Given the description of an element on the screen output the (x, y) to click on. 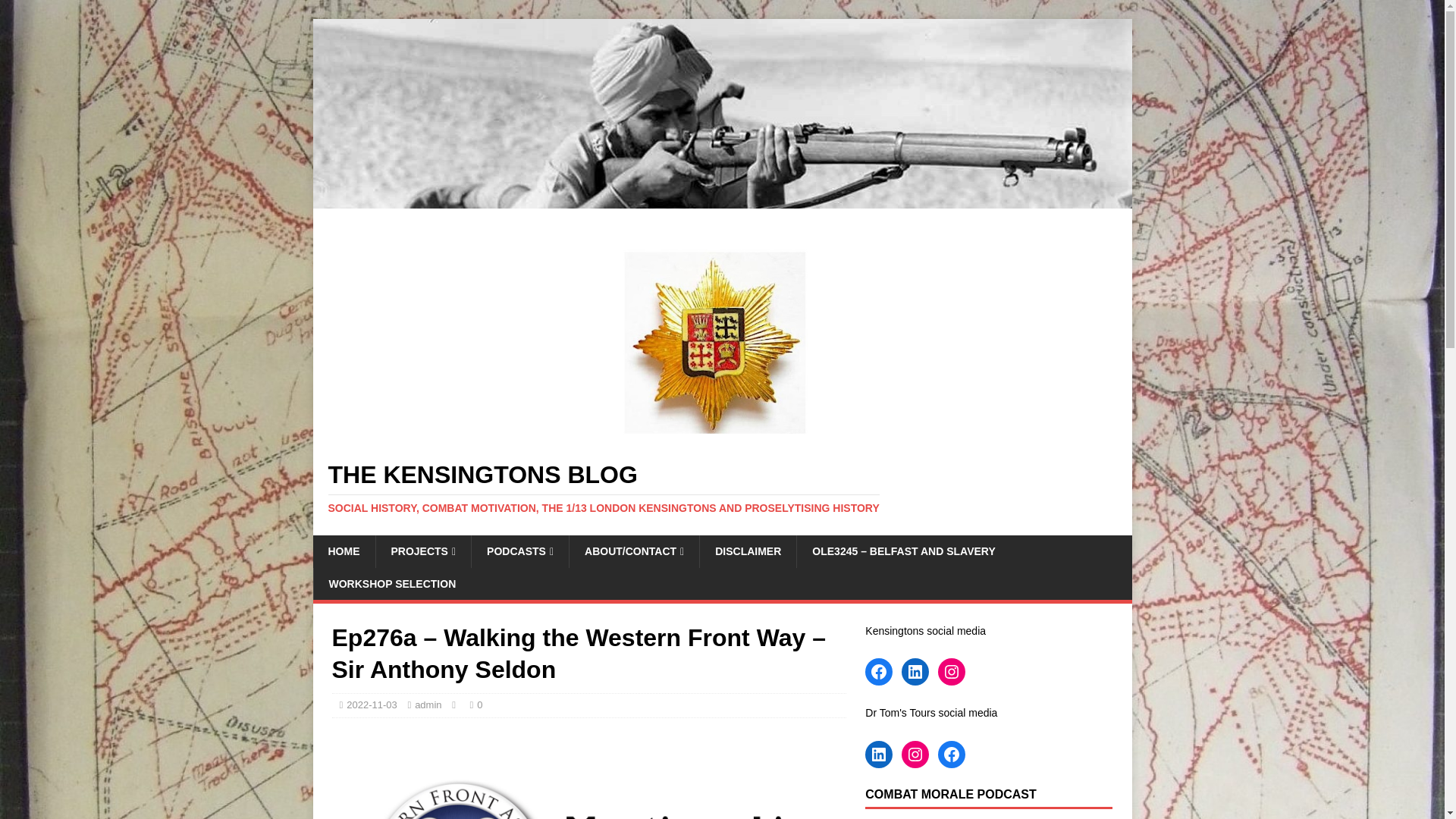
HOME (343, 551)
The Kensingtons Blog (721, 488)
PROJECTS (422, 551)
The Kensingtons Blog (722, 200)
PODCASTS (519, 551)
